Given the description of an element on the screen output the (x, y) to click on. 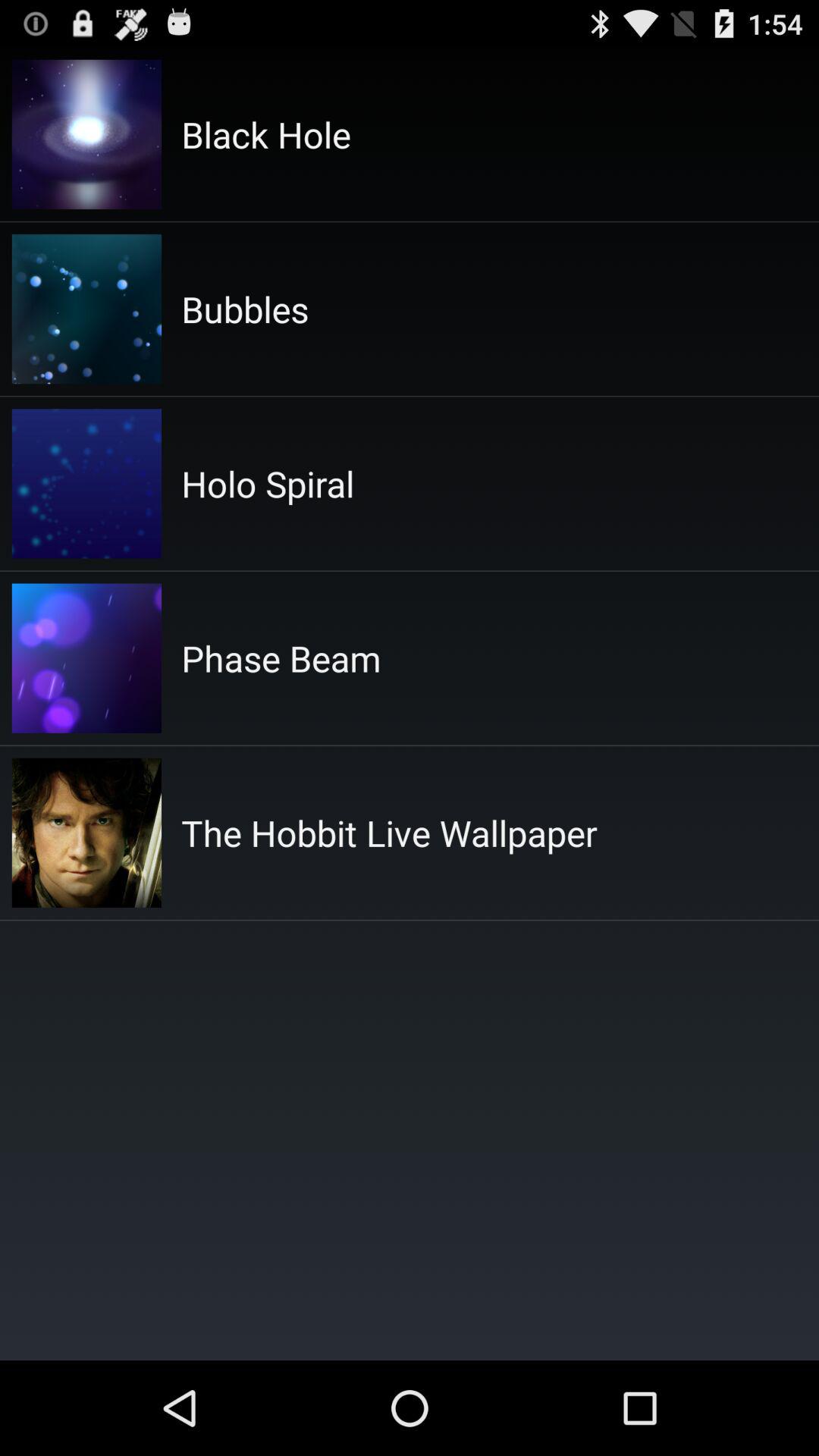
scroll until the phase beam icon (281, 658)
